Given the description of an element on the screen output the (x, y) to click on. 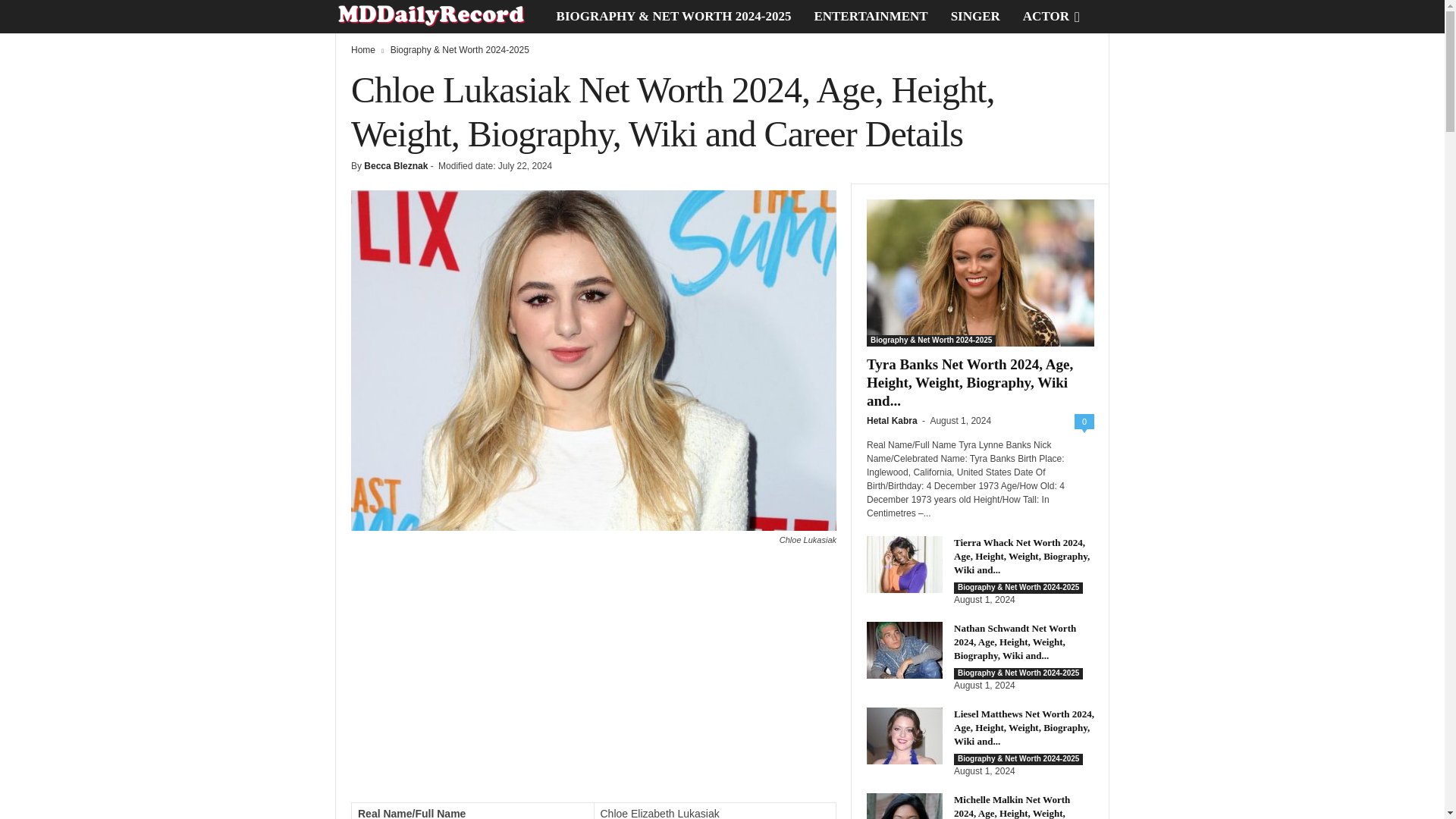
Advertisement (592, 680)
MD Daily Record (439, 16)
ENTERTAINMENT (870, 16)
Home (362, 50)
Becca Bleznak (396, 165)
SINGER (975, 16)
ACTOR (1045, 16)
